Given the description of an element on the screen output the (x, y) to click on. 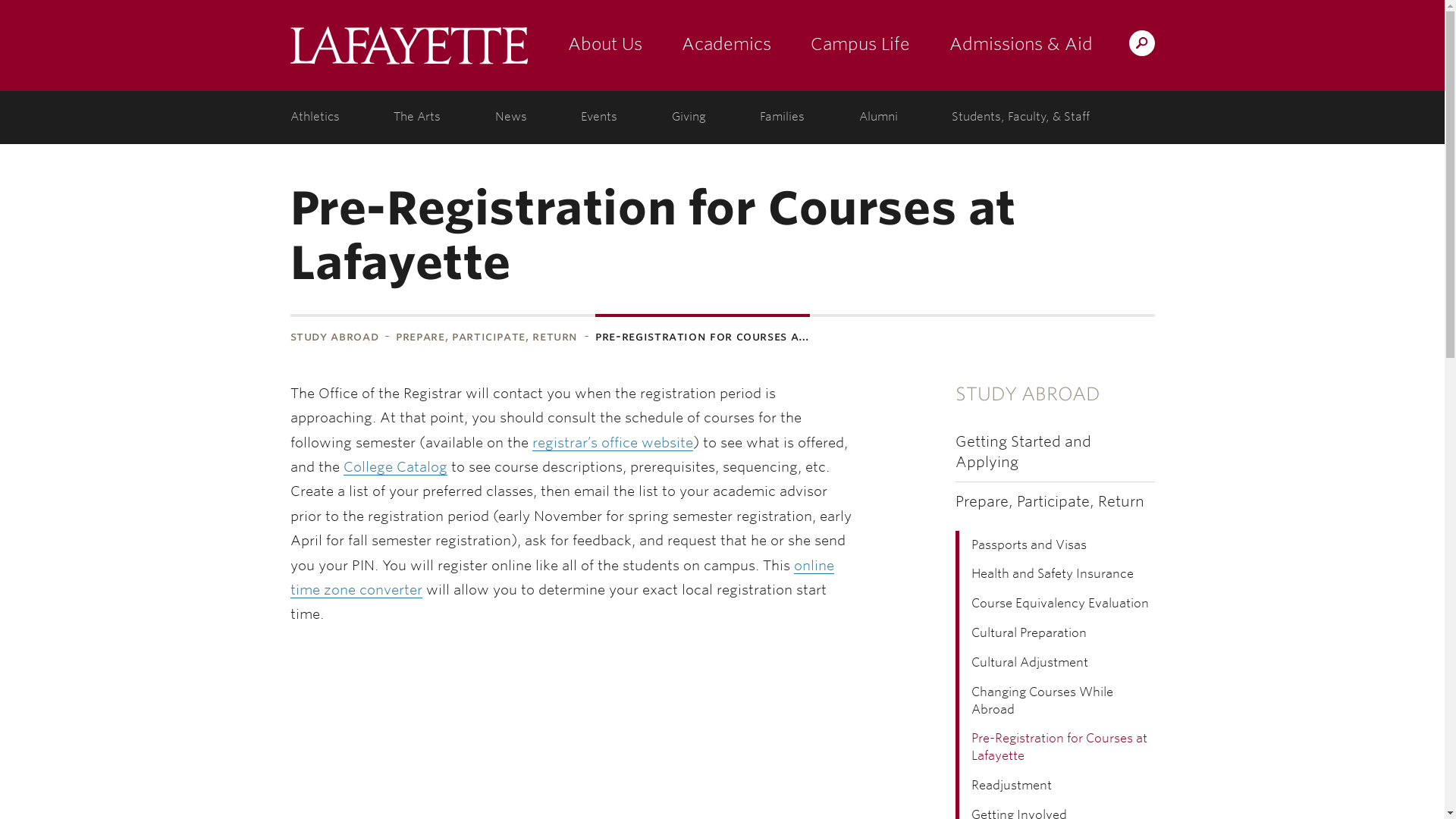
Search (842, 42)
Campus Life (859, 45)
About Us (603, 45)
Academics (725, 45)
Lafayette College (408, 45)
Search Lafayette.edu (1141, 43)
